Given the description of an element on the screen output the (x, y) to click on. 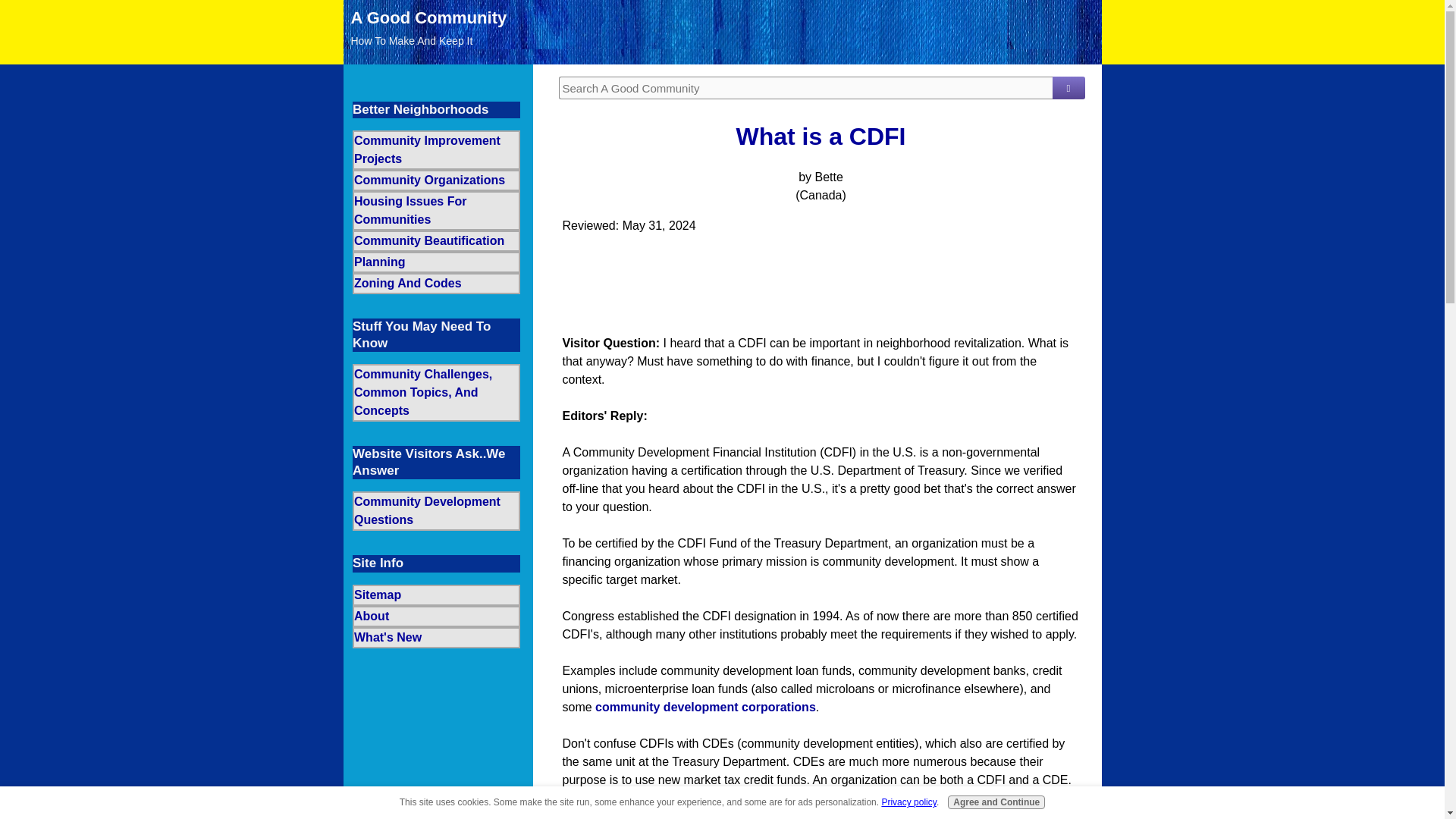
Planning (435, 261)
Community Development Questions (435, 510)
Sitemap (435, 595)
What'S New (435, 637)
Community Beautification (435, 240)
Housing Issues For Communities (435, 210)
Zoning And Codes (435, 283)
community development corporations (705, 707)
Community Improvement Projects (435, 149)
Community Organizations (435, 179)
